Given the description of an element on the screen output the (x, y) to click on. 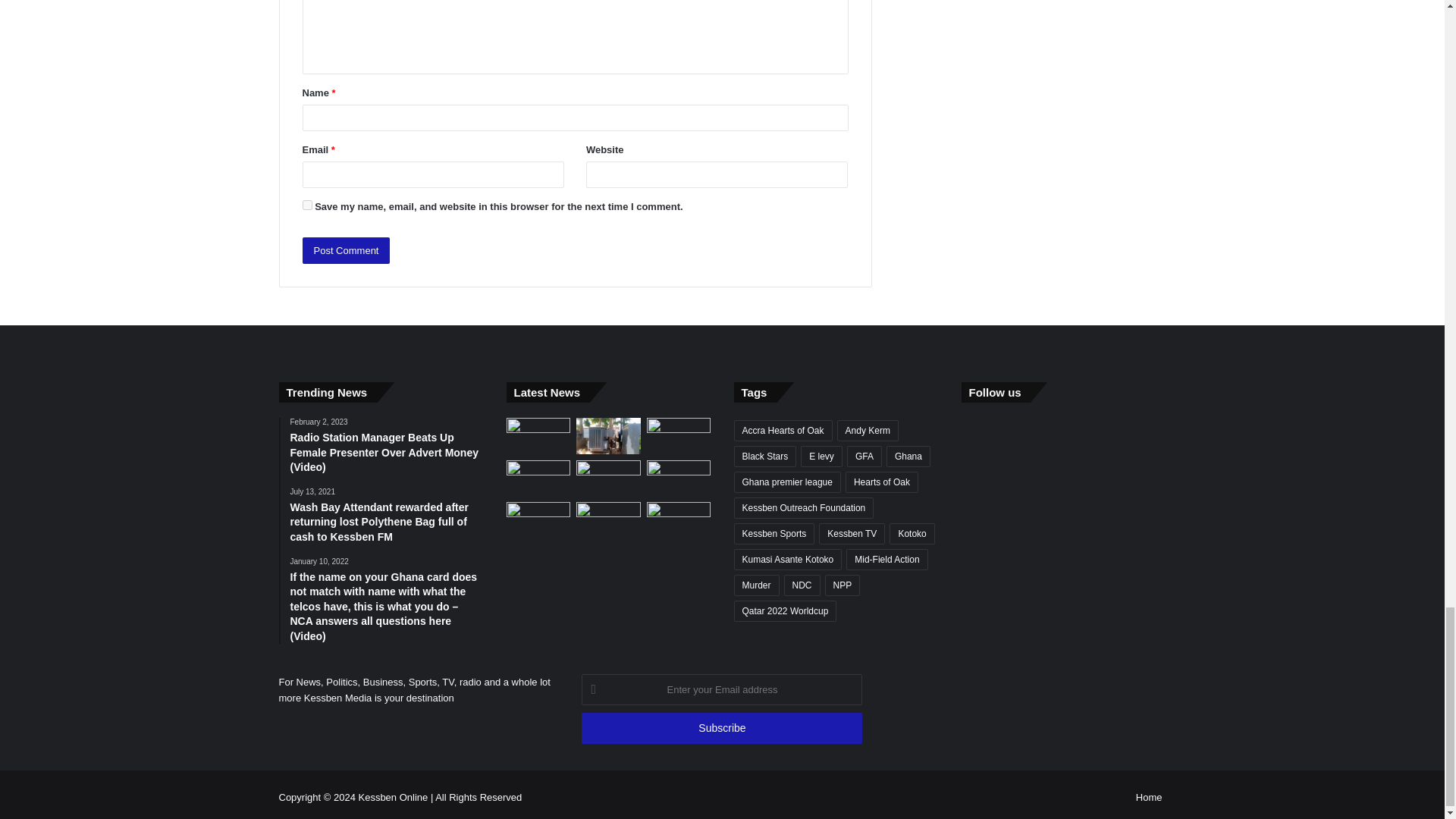
yes (306, 204)
Subscribe (720, 727)
Post Comment (345, 250)
